Given the description of an element on the screen output the (x, y) to click on. 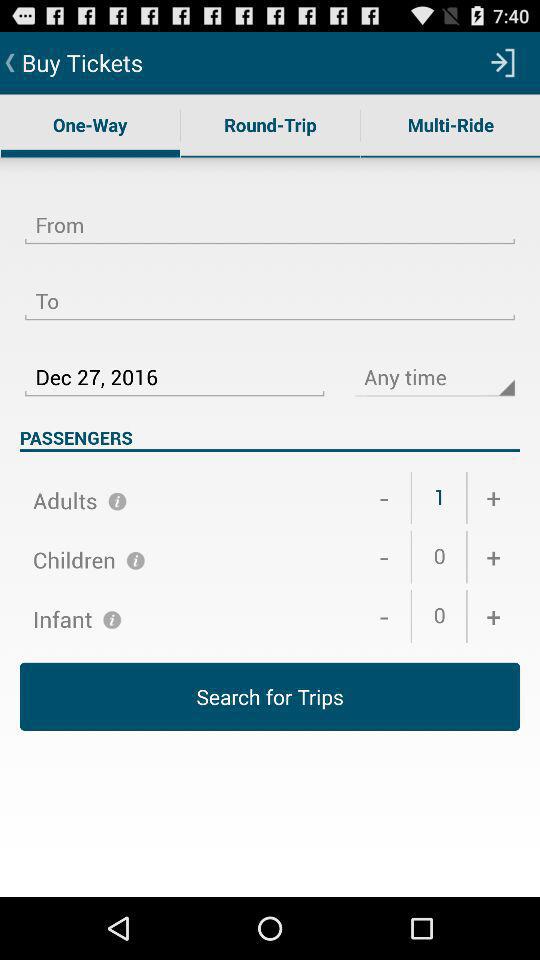
press the item above passengers (174, 365)
